Given the description of an element on the screen output the (x, y) to click on. 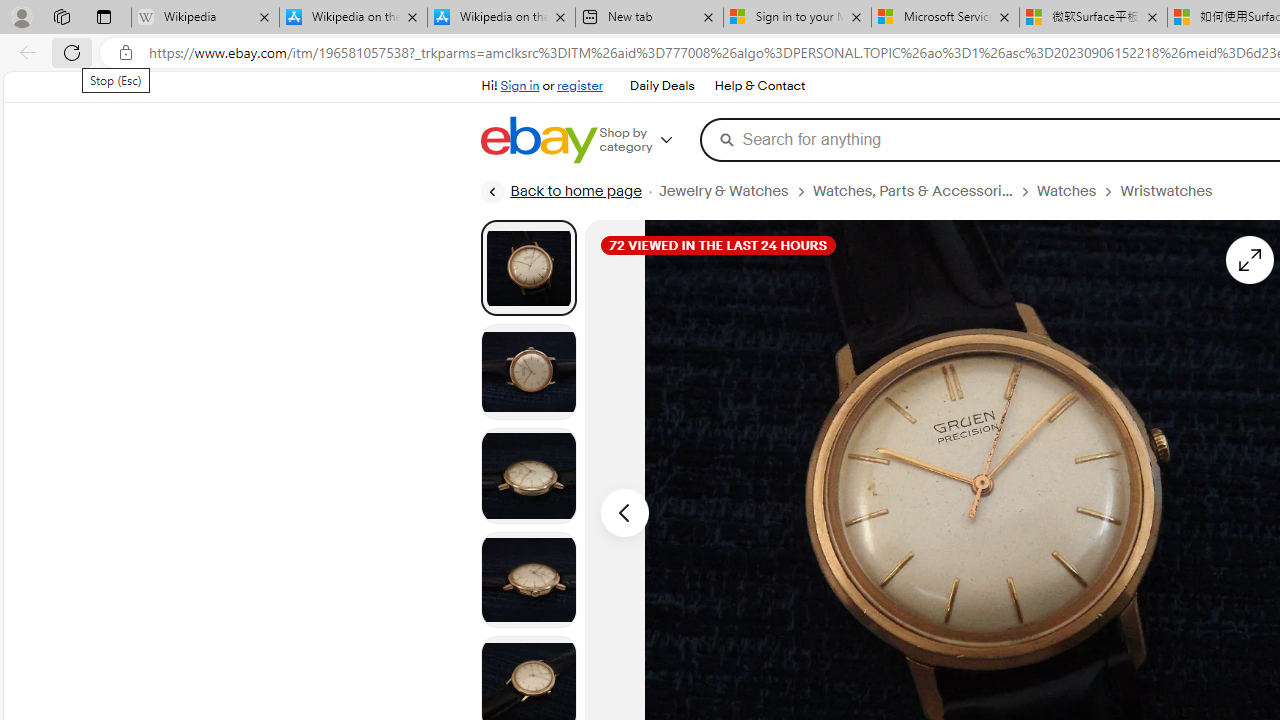
Wristwatches (1166, 191)
Picture 2 of 8 (528, 371)
Help & Contact (760, 86)
Picture 3 of 8 (528, 475)
Wristwatches (1174, 191)
Back to home page (561, 191)
Picture 1 of 8 (528, 267)
Help & Contact (758, 85)
Picture 1 of 8 (528, 268)
Picture 2 of 8 (528, 371)
eBay Home (538, 139)
